Given the description of an element on the screen output the (x, y) to click on. 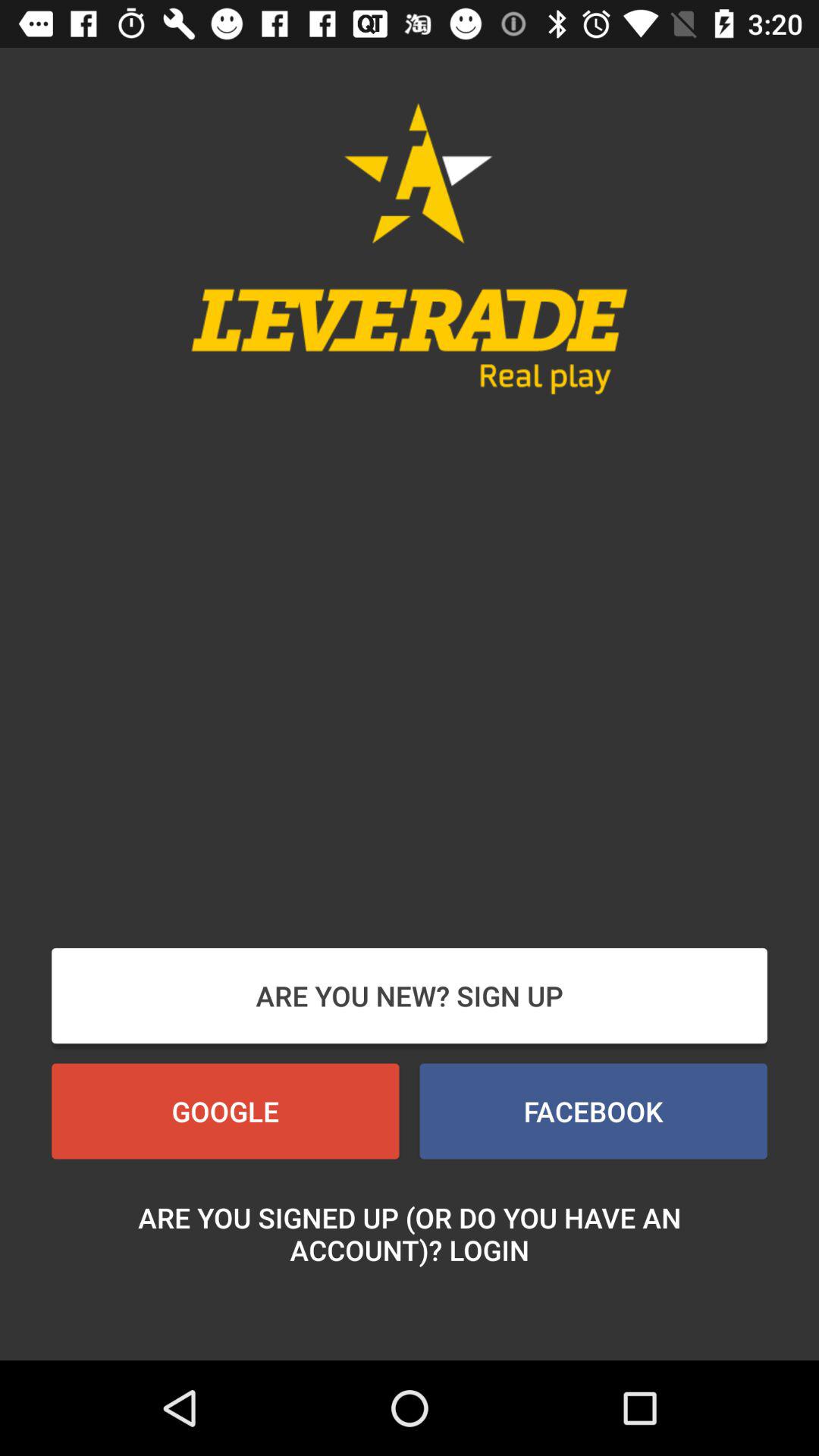
choose the button at the bottom left corner (225, 1111)
